Given the description of an element on the screen output the (x, y) to click on. 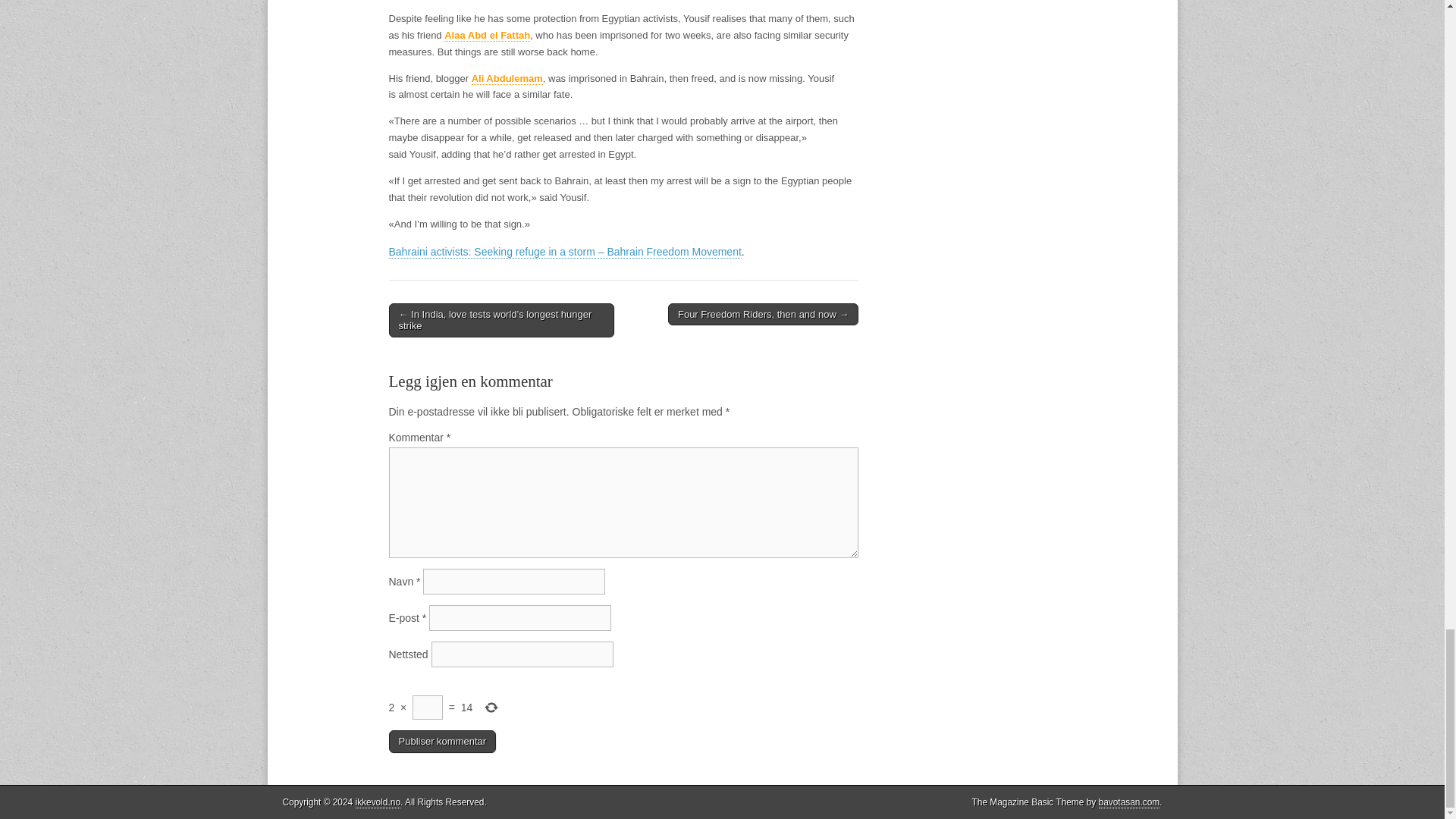
Alaa Abd el Fattah (486, 35)
Ali Abdulemam (507, 78)
Publiser kommentar (442, 741)
Publiser kommentar (442, 741)
